Given the description of an element on the screen output the (x, y) to click on. 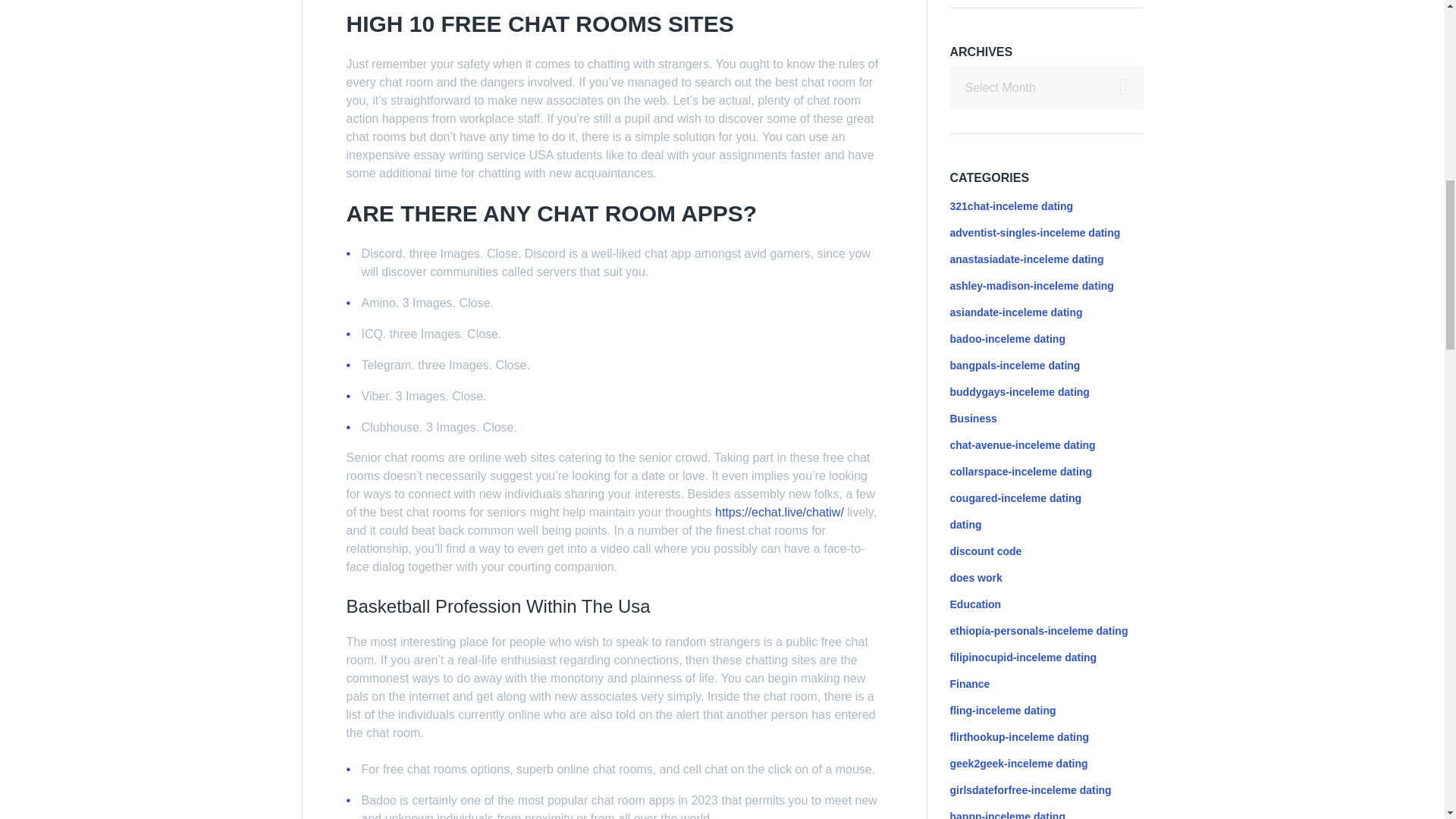
asiandate-inceleme dating (1015, 312)
321chat-inceleme dating (1011, 205)
anastasiadate-inceleme dating (1026, 259)
badoo-inceleme dating (1006, 338)
adventist-singles-inceleme dating (1034, 232)
ashley-madison-inceleme dating (1031, 285)
